Given the description of an element on the screen output the (x, y) to click on. 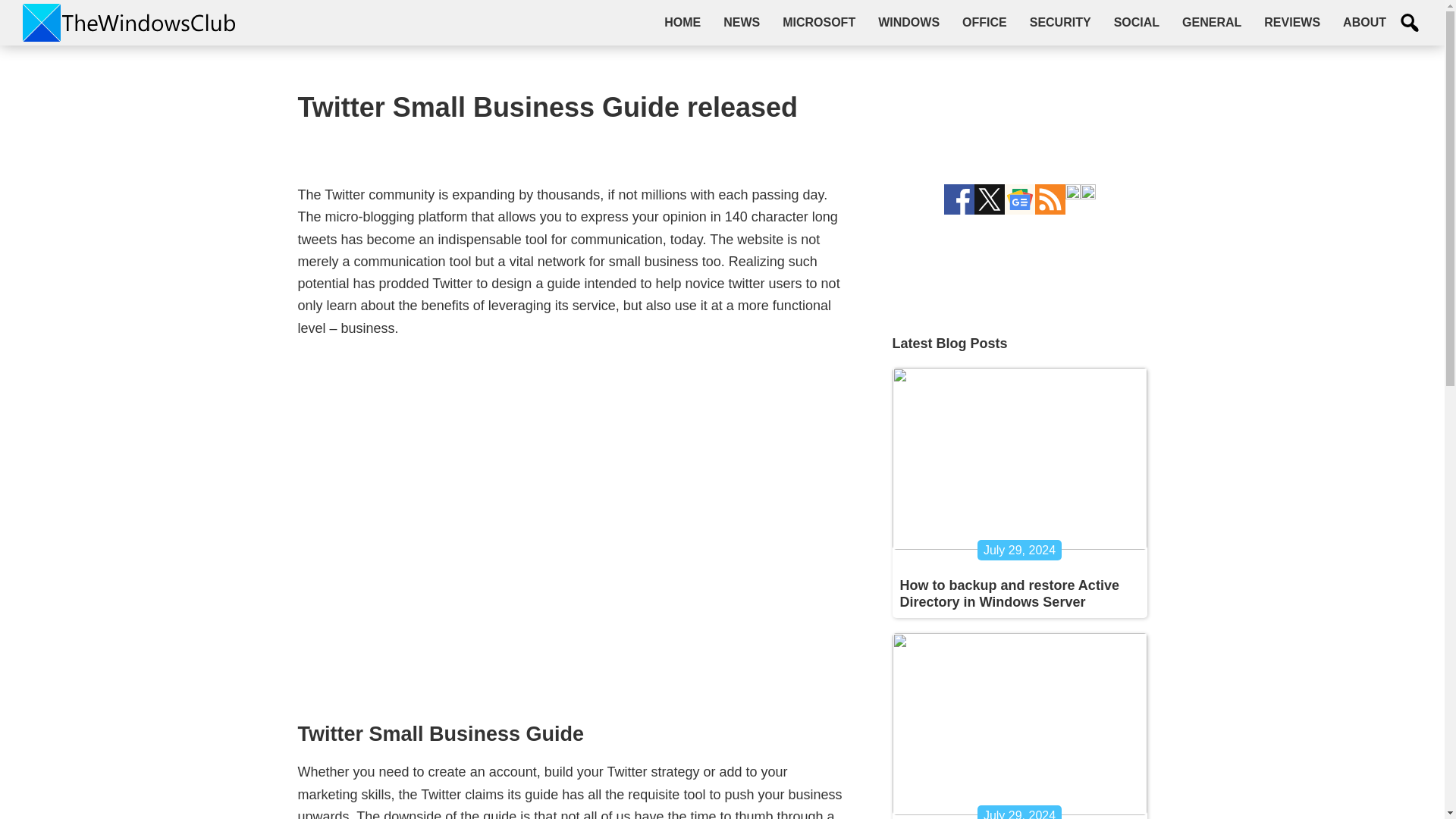
MICROSOFT (818, 22)
NEWS (741, 22)
WINDOWS (908, 22)
SOCIAL (1136, 22)
ABOUT (1364, 22)
HOME (681, 22)
Show Search (1409, 22)
REVIEWS (1292, 22)
GENERAL (1211, 22)
How to backup and restore Active Directory in Windows Server (1008, 593)
SECURITY (1059, 22)
OFFICE (983, 22)
